Given the description of an element on the screen output the (x, y) to click on. 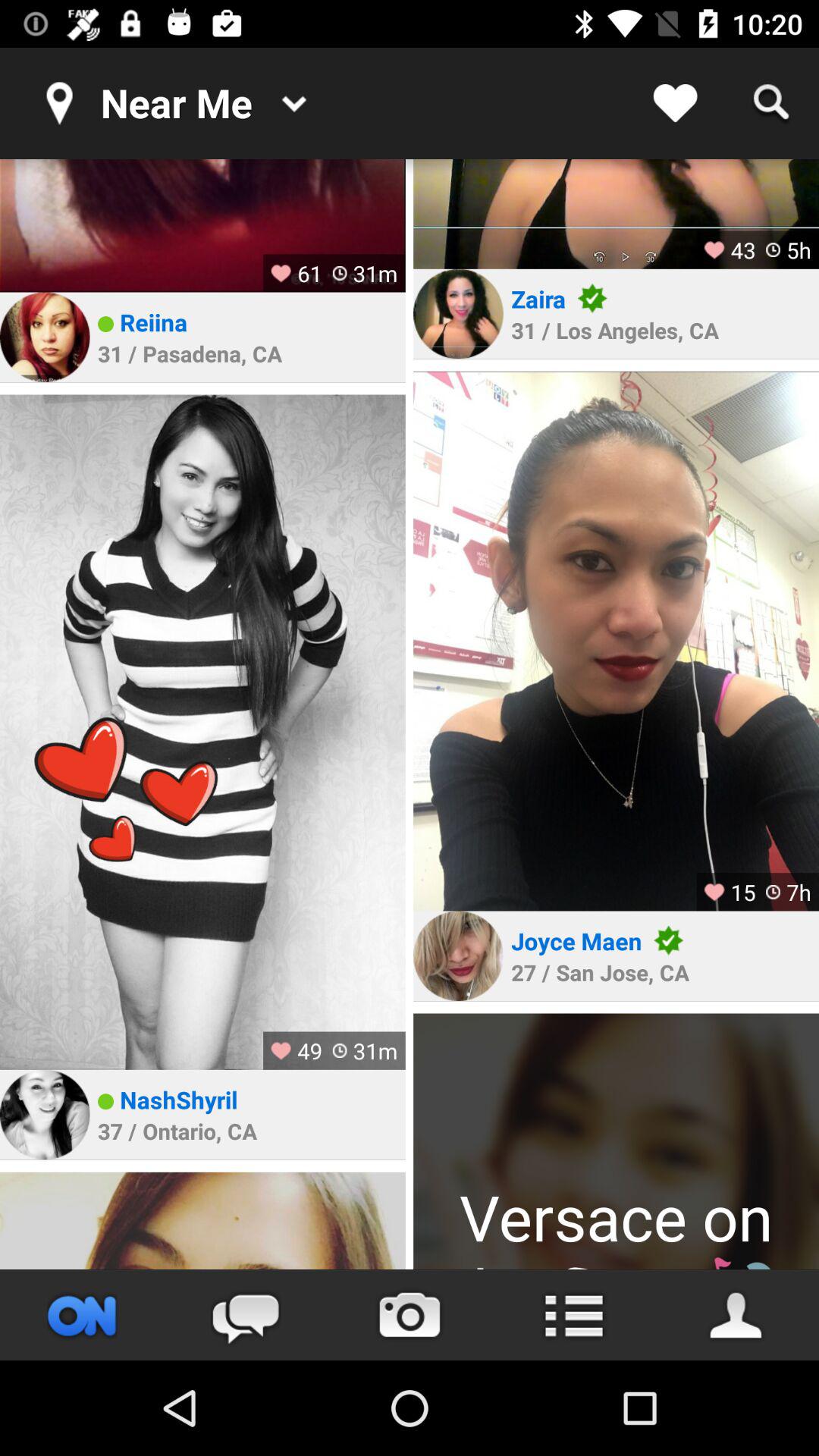
open this profile (202, 731)
